Given the description of an element on the screen output the (x, y) to click on. 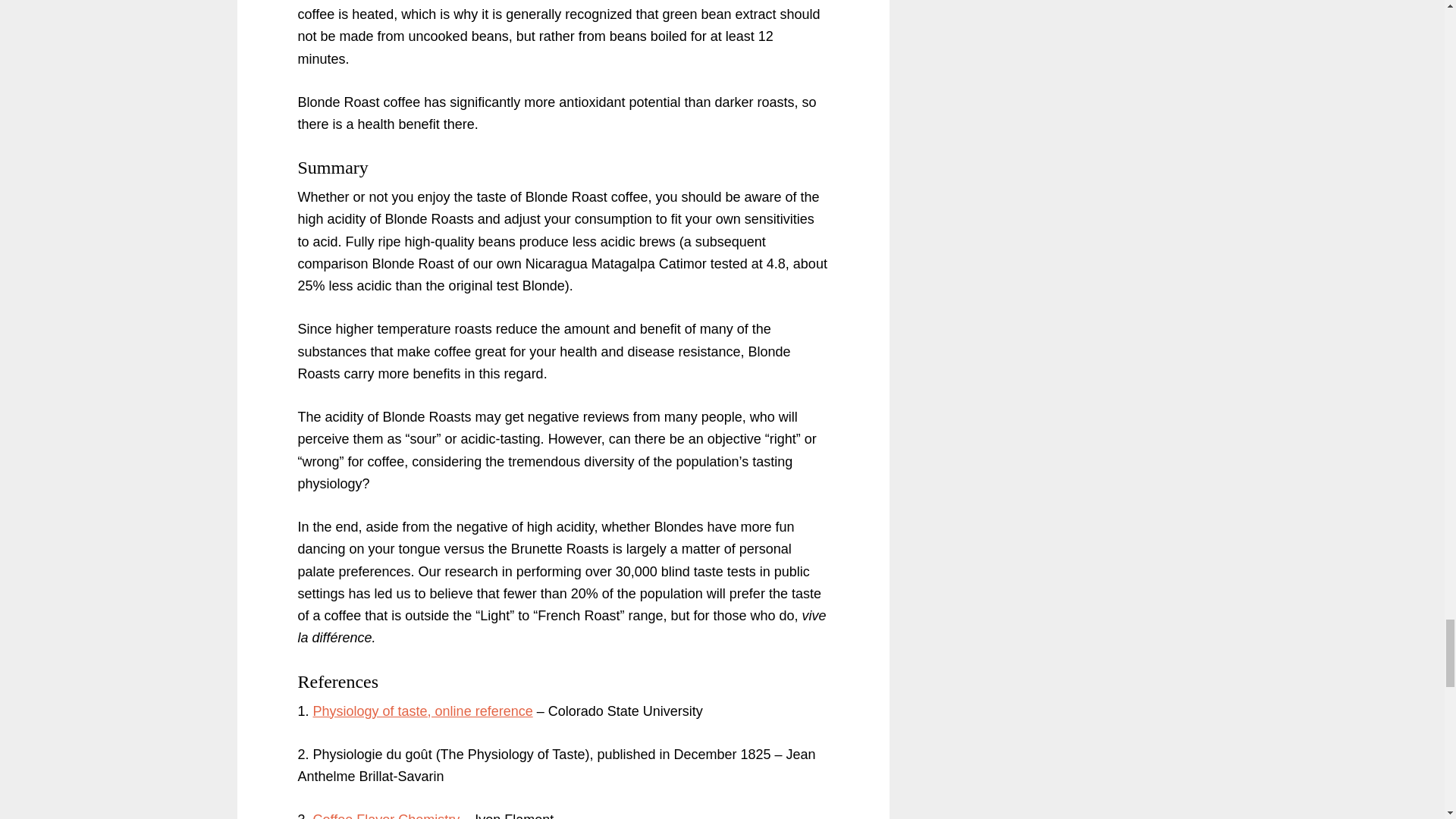
Coffee Flavor Chemistry (386, 815)
Physiology of taste, online reference (422, 711)
